Given the description of an element on the screen output the (x, y) to click on. 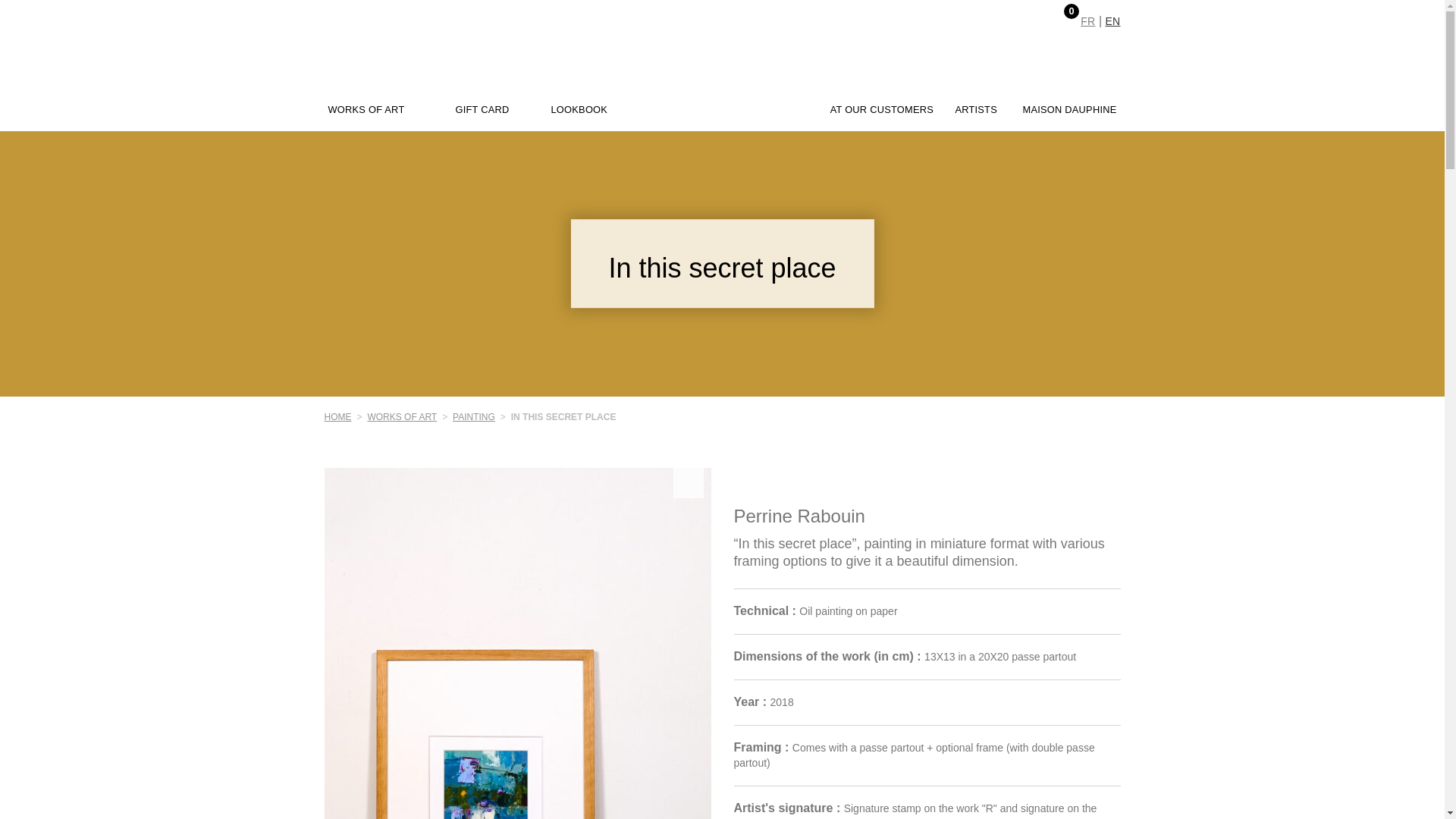
LOOKBOOK (578, 109)
WORKS OF ART (365, 109)
AT OUR CUSTOMERS (881, 109)
MAISON DAUPHINE (1069, 109)
HOME LOGO (721, 81)
GIFT CARD (481, 109)
ARTISTS (976, 109)
